Given the description of an element on the screen output the (x, y) to click on. 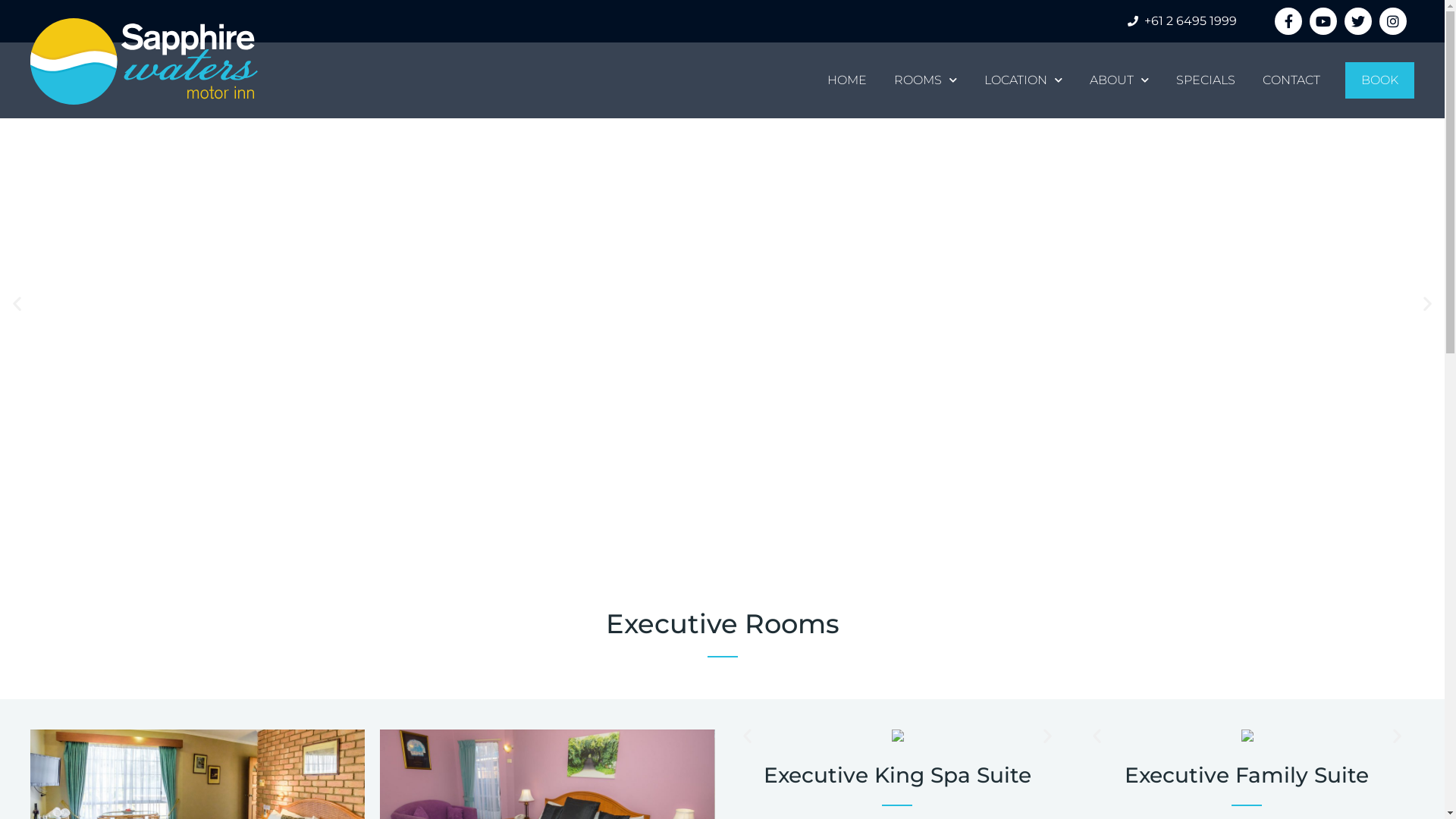
LOCATION Element type: text (1023, 80)
CONTACT Element type: text (1290, 80)
SPECIALS Element type: text (1205, 80)
ABOUT Element type: text (1119, 80)
HOME Element type: text (846, 80)
ROOMS Element type: text (925, 80)
BOOK Element type: text (1379, 79)
+61 2 6495 1999 Element type: text (1181, 21)
